Given the description of an element on the screen output the (x, y) to click on. 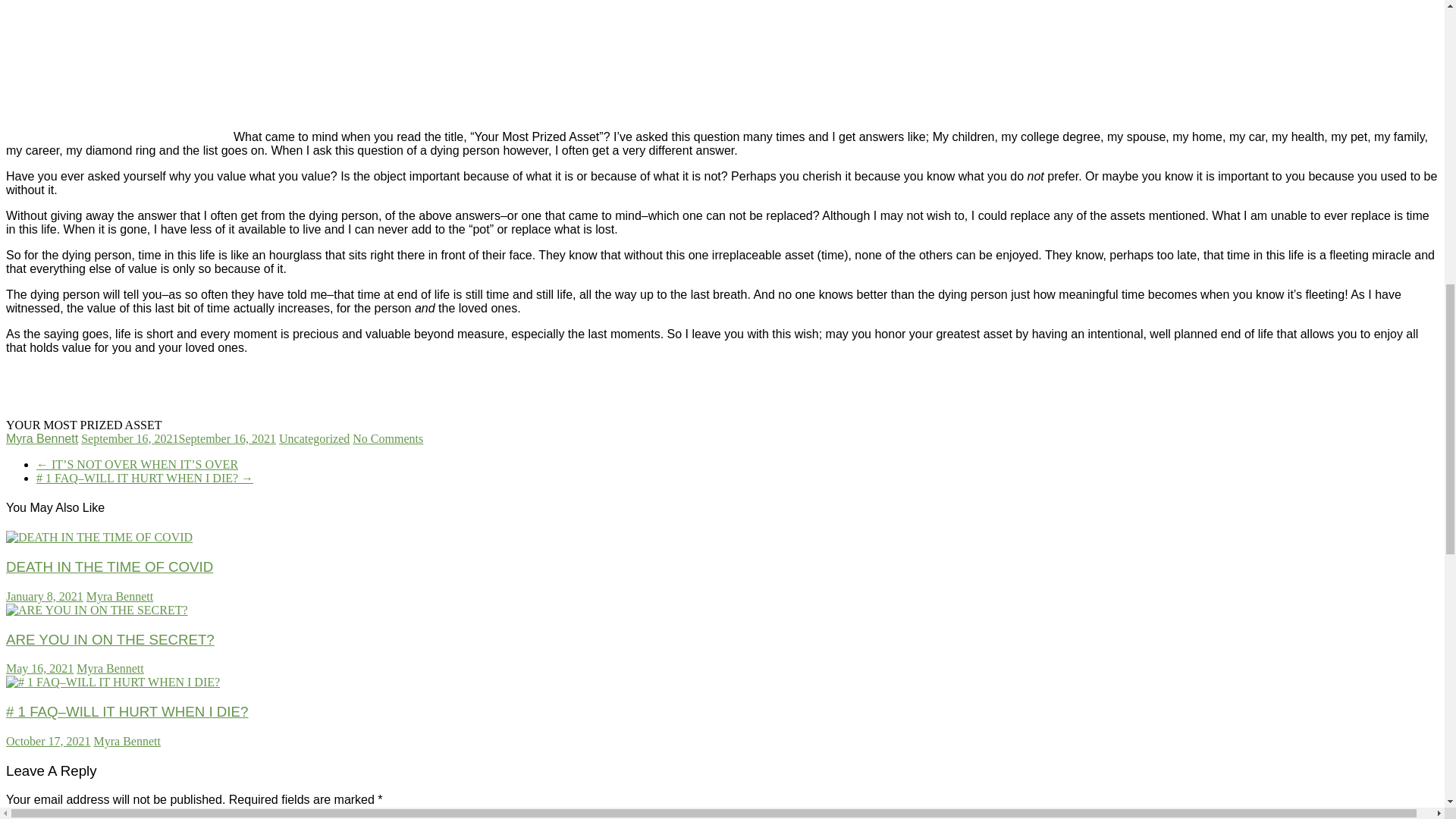
ARE YOU IN ON THE SECRET? (109, 639)
January 8, 2021 (43, 595)
Uncategorized (314, 438)
Myra Bennett (127, 740)
May 16, 2021 (39, 667)
DEATH IN THE TIME OF COVID (98, 536)
3:27 pm (43, 595)
Myra Bennett (41, 438)
September 16, 2021September 16, 2021 (178, 438)
Myra Bennett (109, 667)
